Given the description of an element on the screen output the (x, y) to click on. 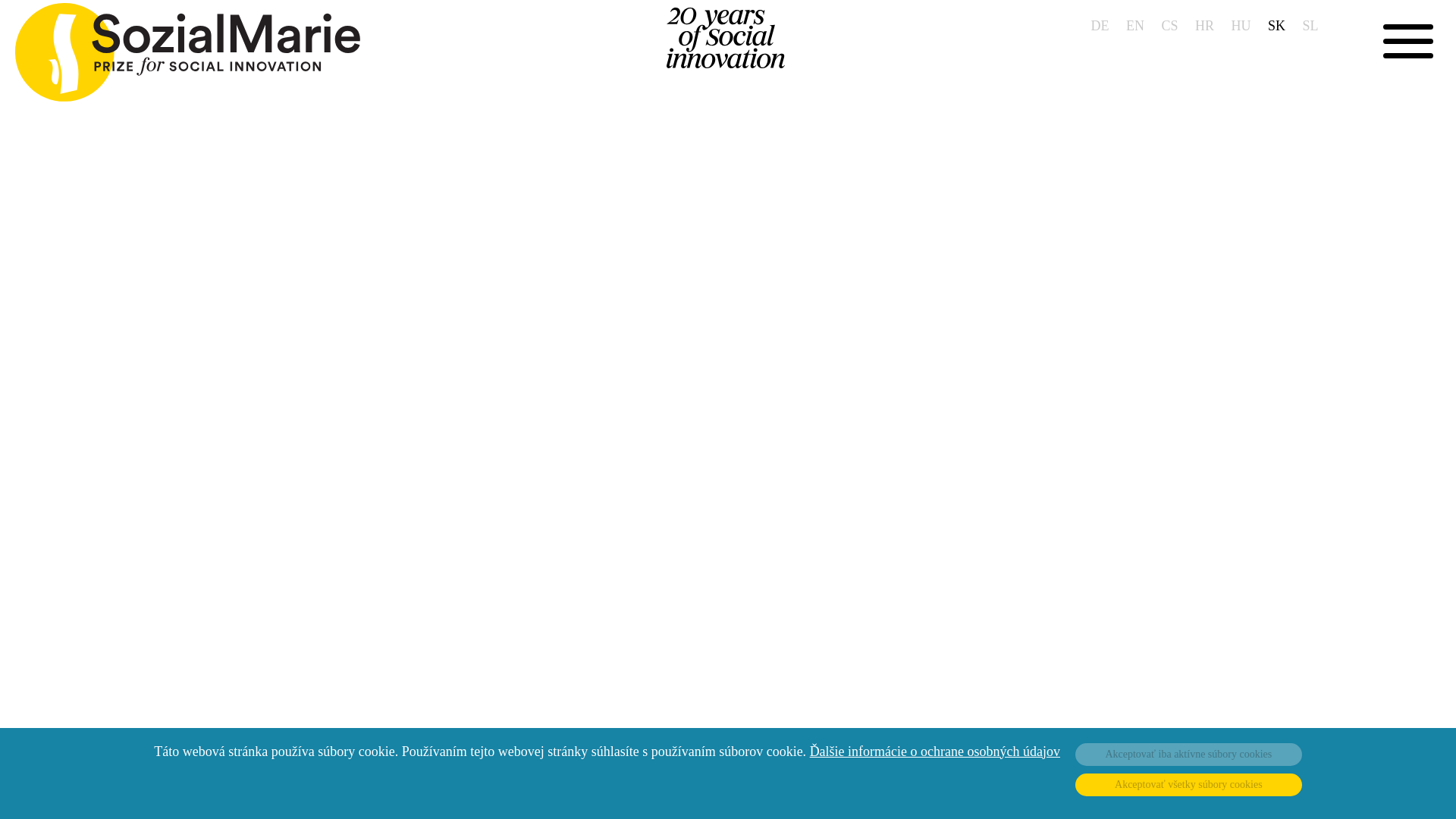
SL (1309, 25)
HR (1204, 25)
EN (1134, 25)
DE (1099, 25)
CS (1168, 25)
HU (1240, 25)
SK (1276, 25)
